Given the description of an element on the screen output the (x, y) to click on. 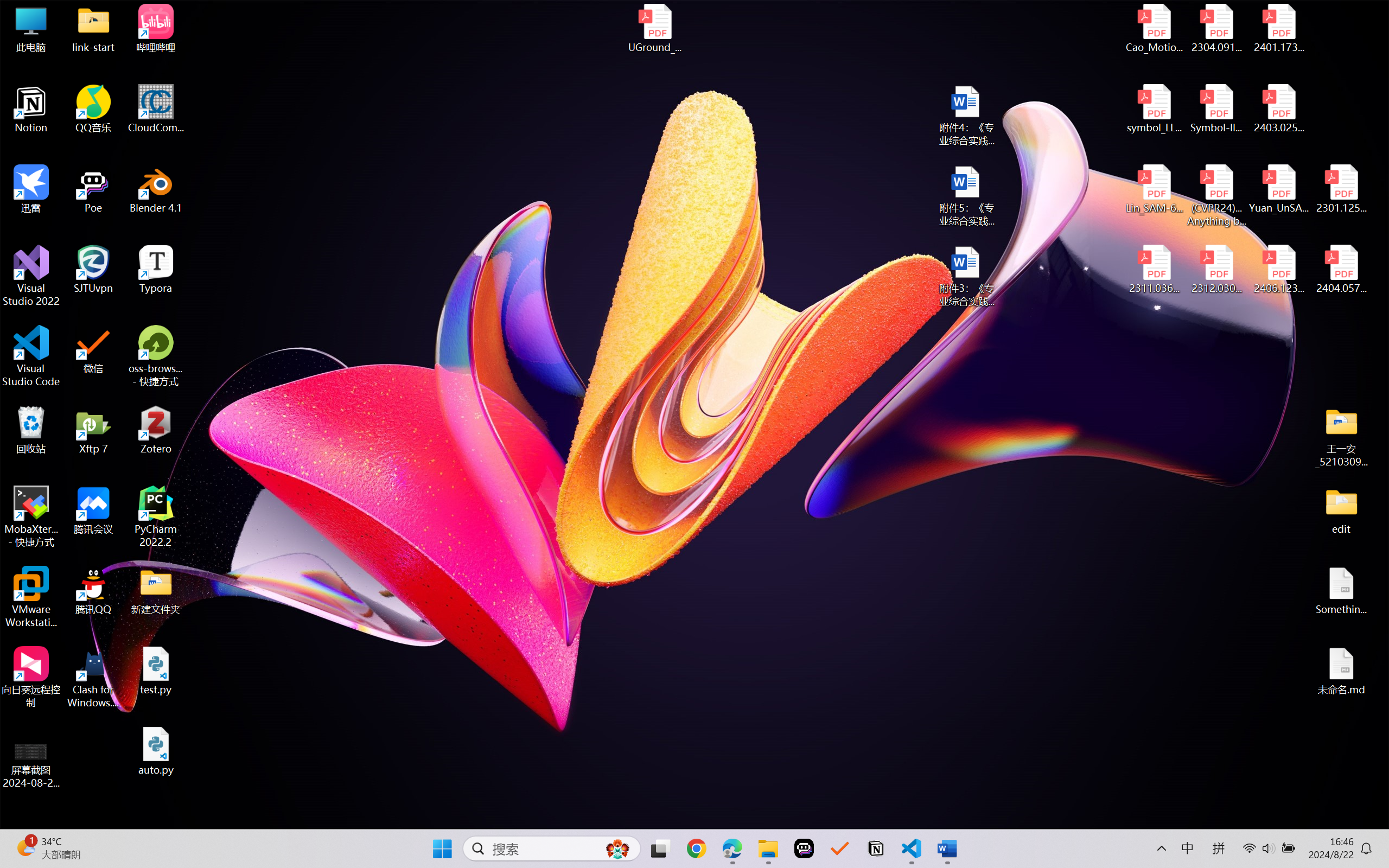
Google Chrome (696, 848)
PyCharm 2022.2 (156, 516)
Visual Studio Code (31, 355)
symbol_LLM.pdf (1154, 109)
